Given the description of an element on the screen output the (x, y) to click on. 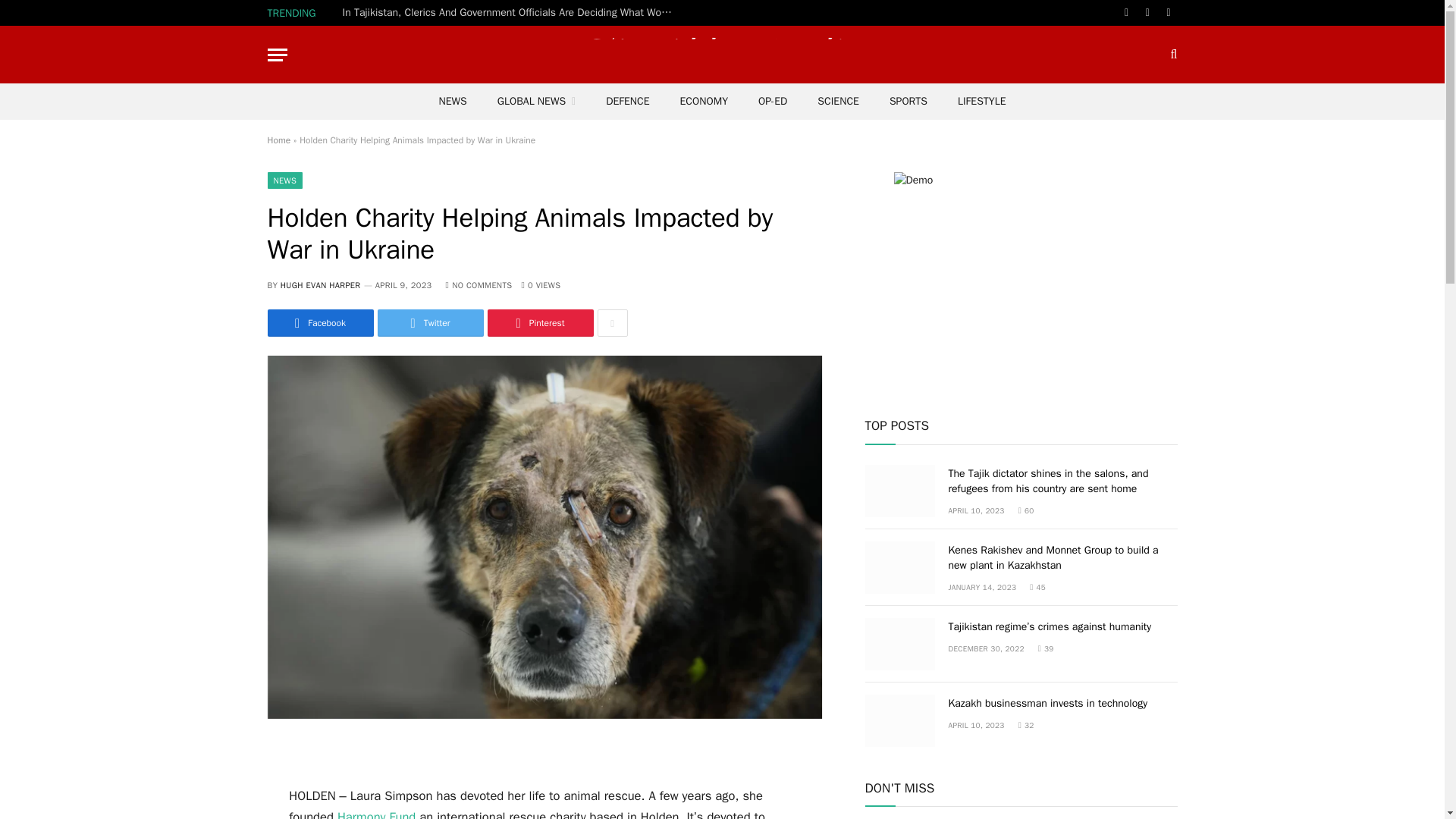
Share on Facebook (319, 322)
Posts by Hugh Evan Harper (321, 285)
Share on Pinterest (539, 322)
0 Article Views (540, 285)
The Citizen Daily (721, 54)
